Given the description of an element on the screen output the (x, y) to click on. 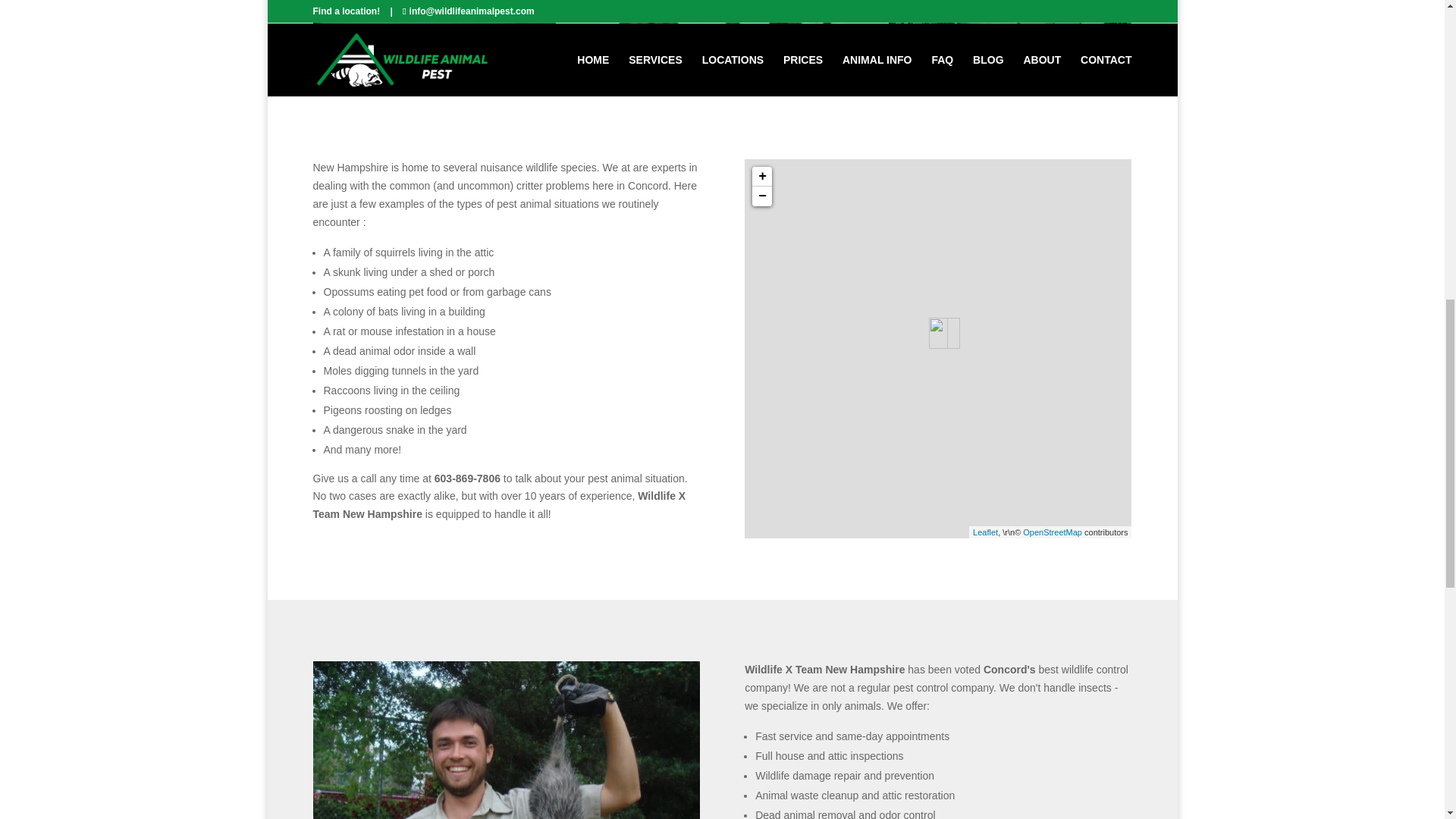
OpenStreetMap (1052, 532)
Leaflet (984, 532)
A JS library for interactive maps (984, 532)
Wildlife X Team New Hampshire Pest Animal Removal (433, 18)
Wildlife X Team New Hampshire Pest Animal Removal (1009, 18)
Zoom out (761, 196)
Zoom in (761, 176)
Wildlife X Team New Hampshire Pest Animal Removal (721, 18)
